Given the description of an element on the screen output the (x, y) to click on. 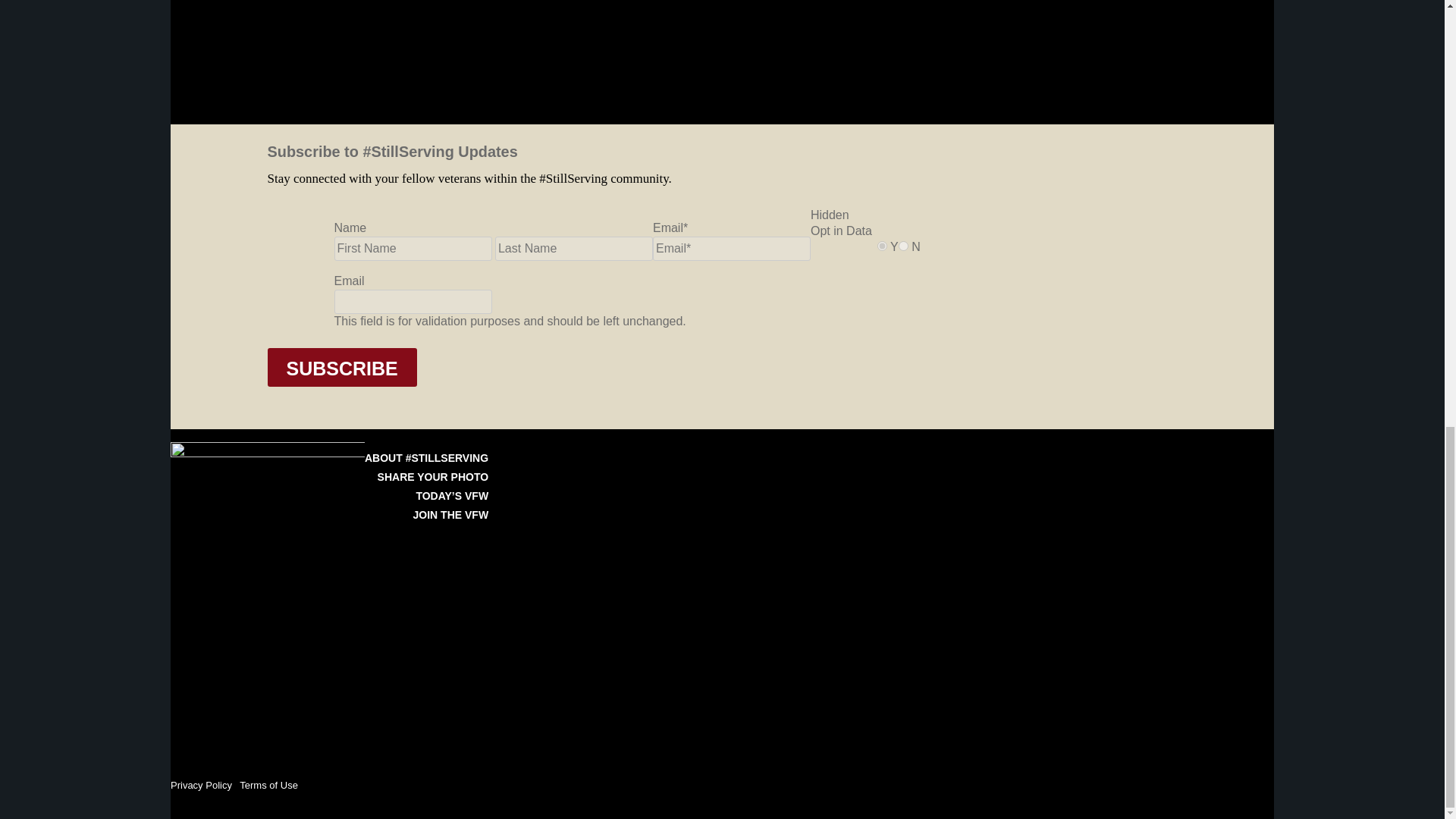
N (903, 245)
JOIN THE VFW (451, 514)
SUBSCRIBE (341, 367)
SUBSCRIBE (341, 367)
SHARE YOUR PHOTO (433, 476)
Privacy Policy (200, 785)
Y (881, 245)
Terms of Use (269, 785)
